Given the description of an element on the screen output the (x, y) to click on. 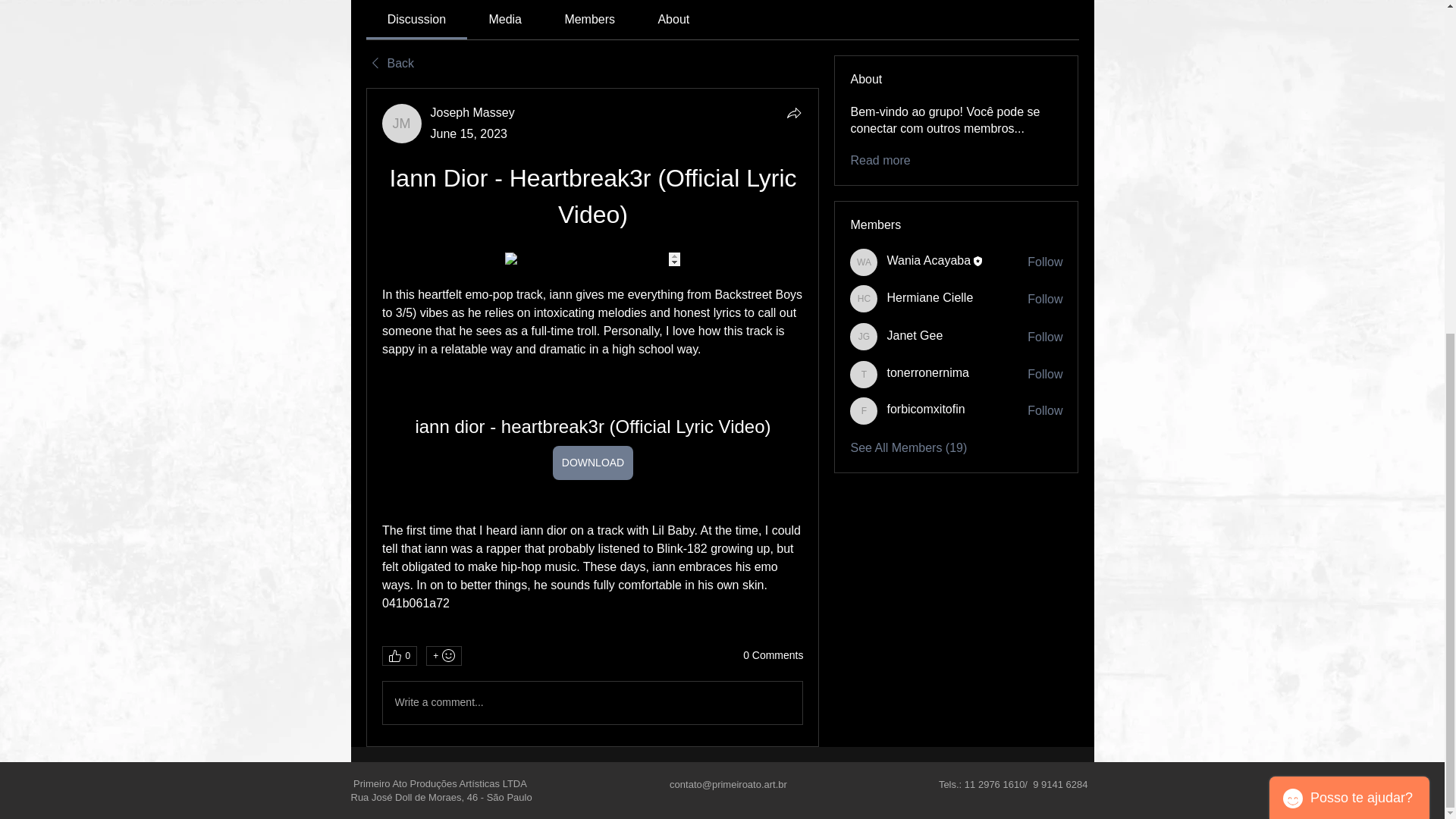
Wania Acayaba (863, 262)
Janet Gee (914, 335)
tonerronernima (927, 372)
forbicomxitofin (863, 411)
tonerronernima (863, 374)
Hermiane Cielle (863, 298)
Joseph Massey (401, 123)
Janet Gee (863, 336)
remote content (592, 259)
